Given the description of an element on the screen output the (x, y) to click on. 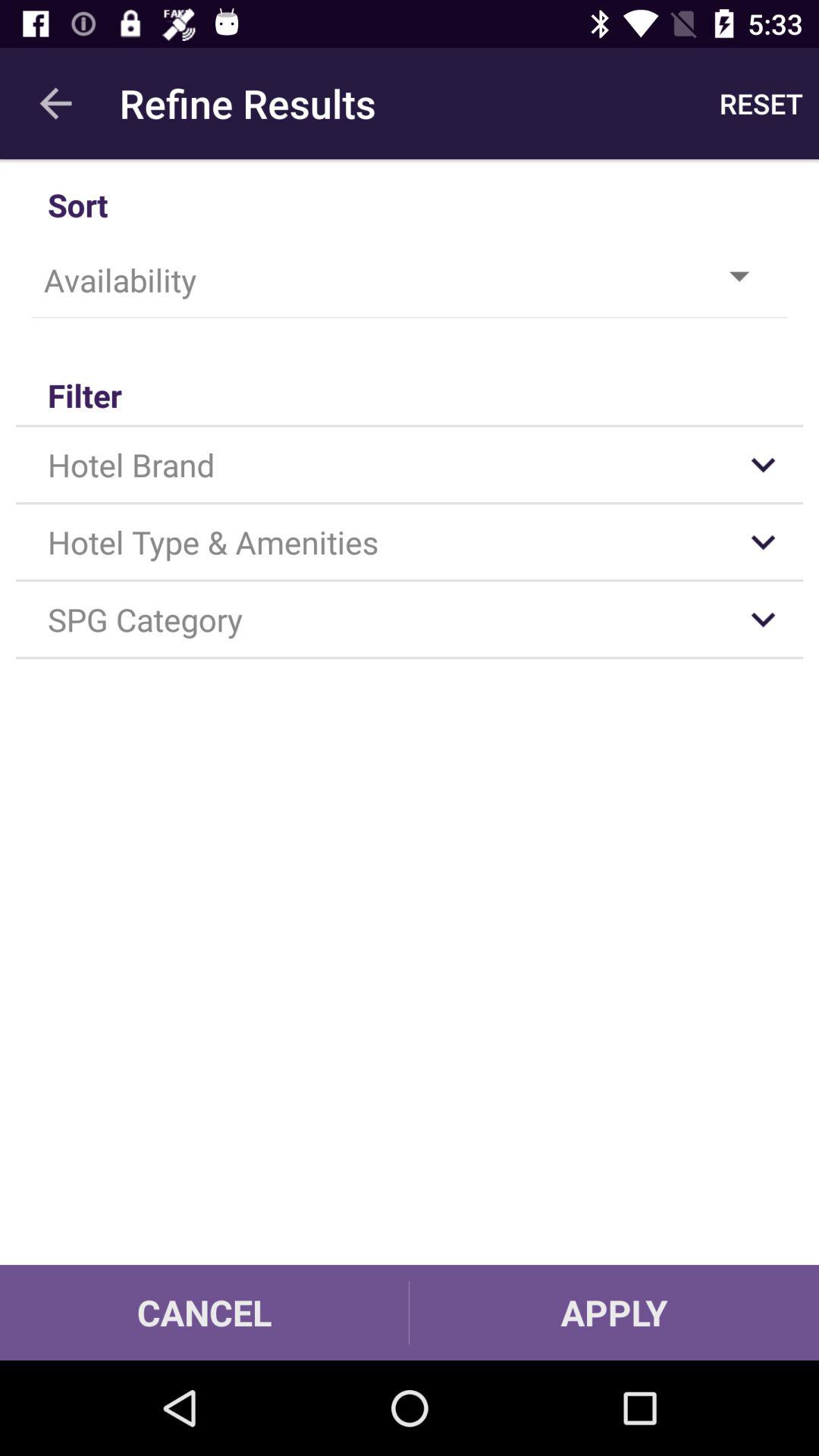
press item above sort (761, 103)
